Given the description of an element on the screen output the (x, y) to click on. 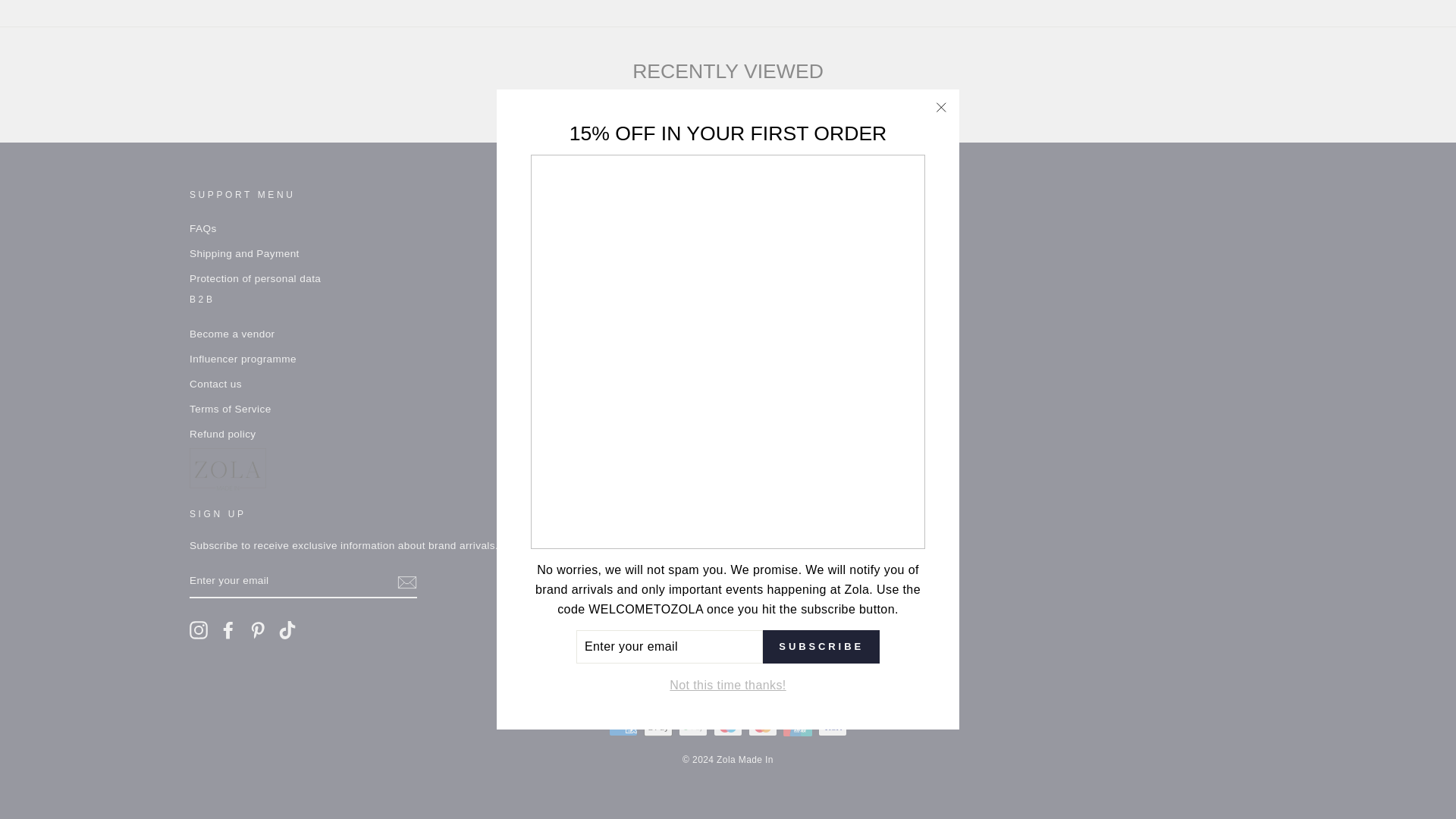
American Express (622, 727)
Apple Pay (657, 727)
Maestro (727, 727)
Mastercard (762, 727)
Visa (832, 727)
Google Pay (692, 727)
Union Pay (797, 727)
